Given the description of an element on the screen output the (x, y) to click on. 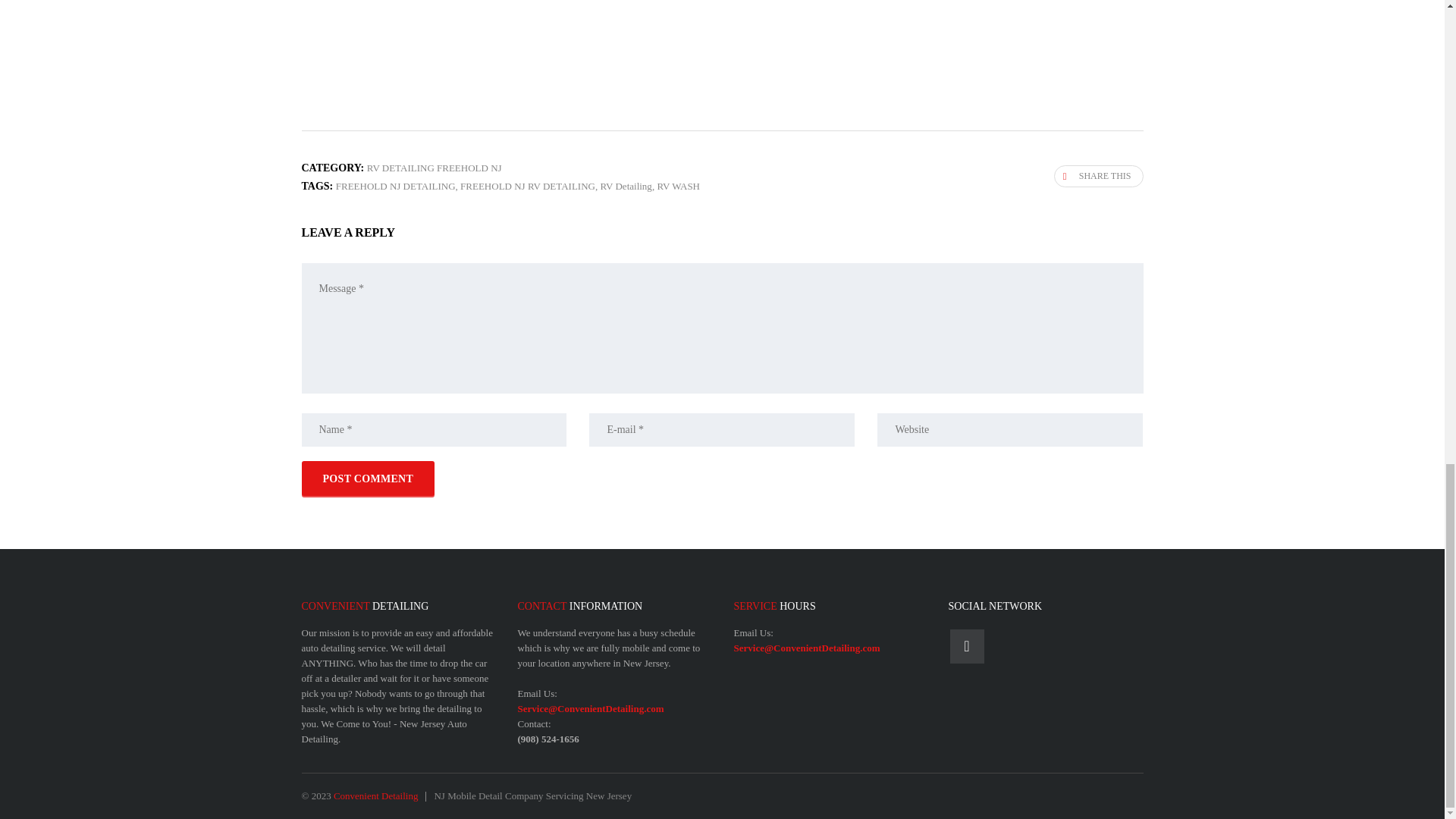
Post Comment (368, 478)
RV WASH (678, 185)
FREEHOLD NJ DETAILING (395, 185)
RV DETAILING FREEHOLD NJ (434, 167)
Post Comment (368, 478)
RV Detailing (624, 185)
FREEHOLD NJ RV DETAILING (527, 185)
Convenient Detailing (376, 795)
Share this (1098, 176)
SHARE THIS (1098, 176)
